Given the description of an element on the screen output the (x, y) to click on. 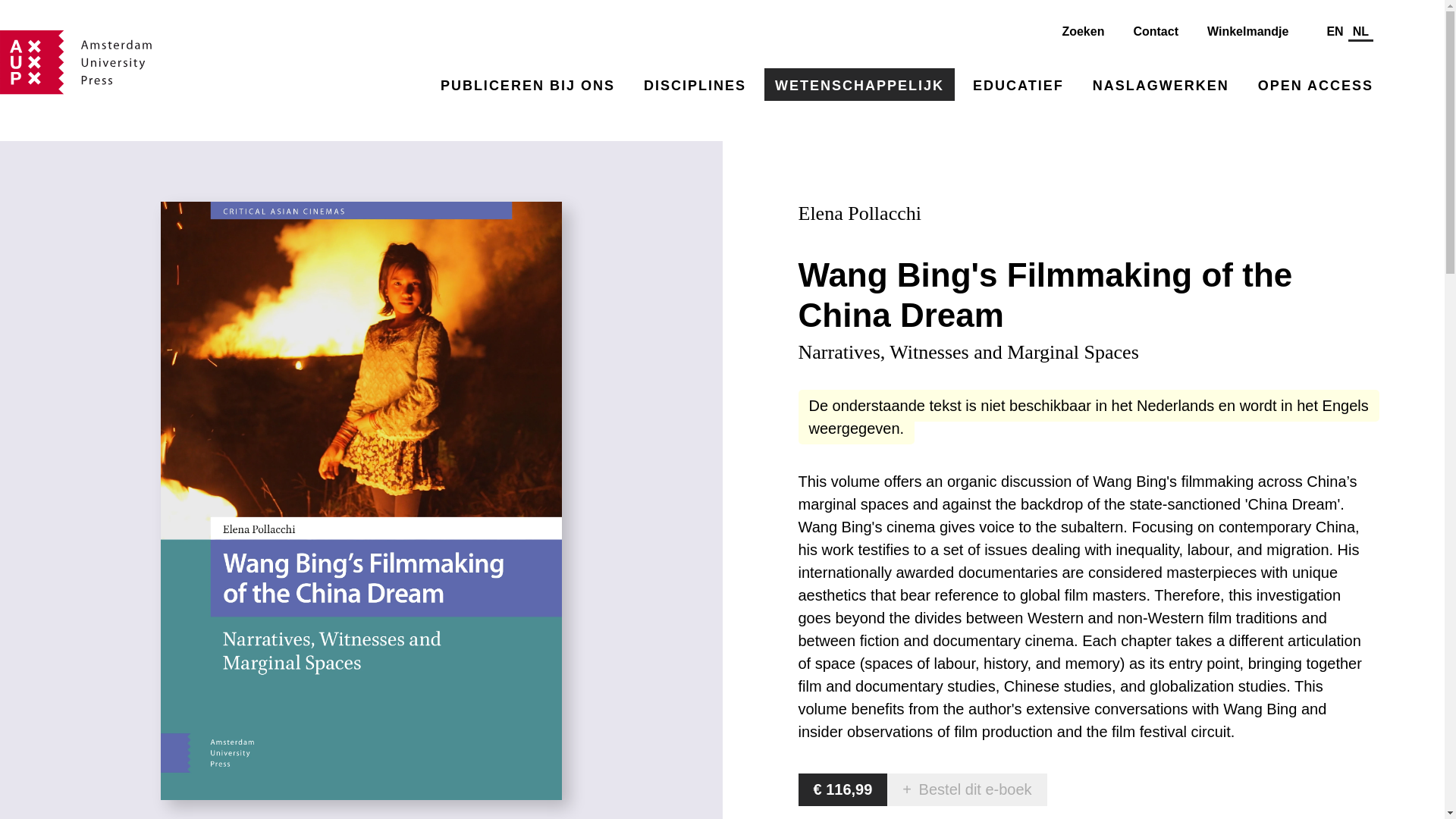
WETENSCHAPPELIJK (859, 83)
EDUCATIEF (1018, 83)
Amsterdam University Press (75, 62)
DISCIPLINES (695, 83)
NASLAGWERKEN (1160, 83)
PUBLICEREN BIJ ONS (527, 83)
